Given the description of an element on the screen output the (x, y) to click on. 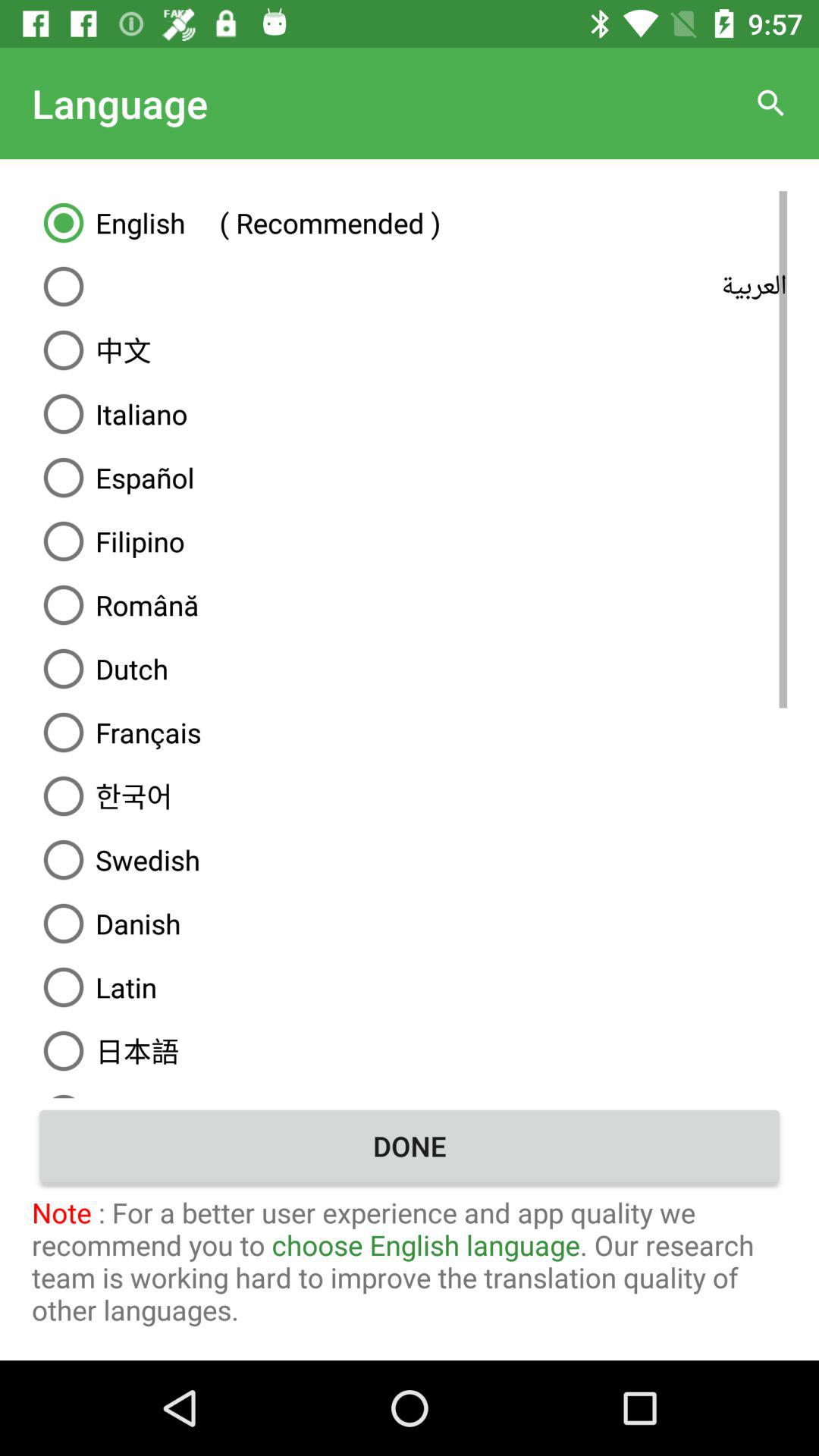
turn on item above the swedish icon (409, 796)
